Given the description of an element on the screen output the (x, y) to click on. 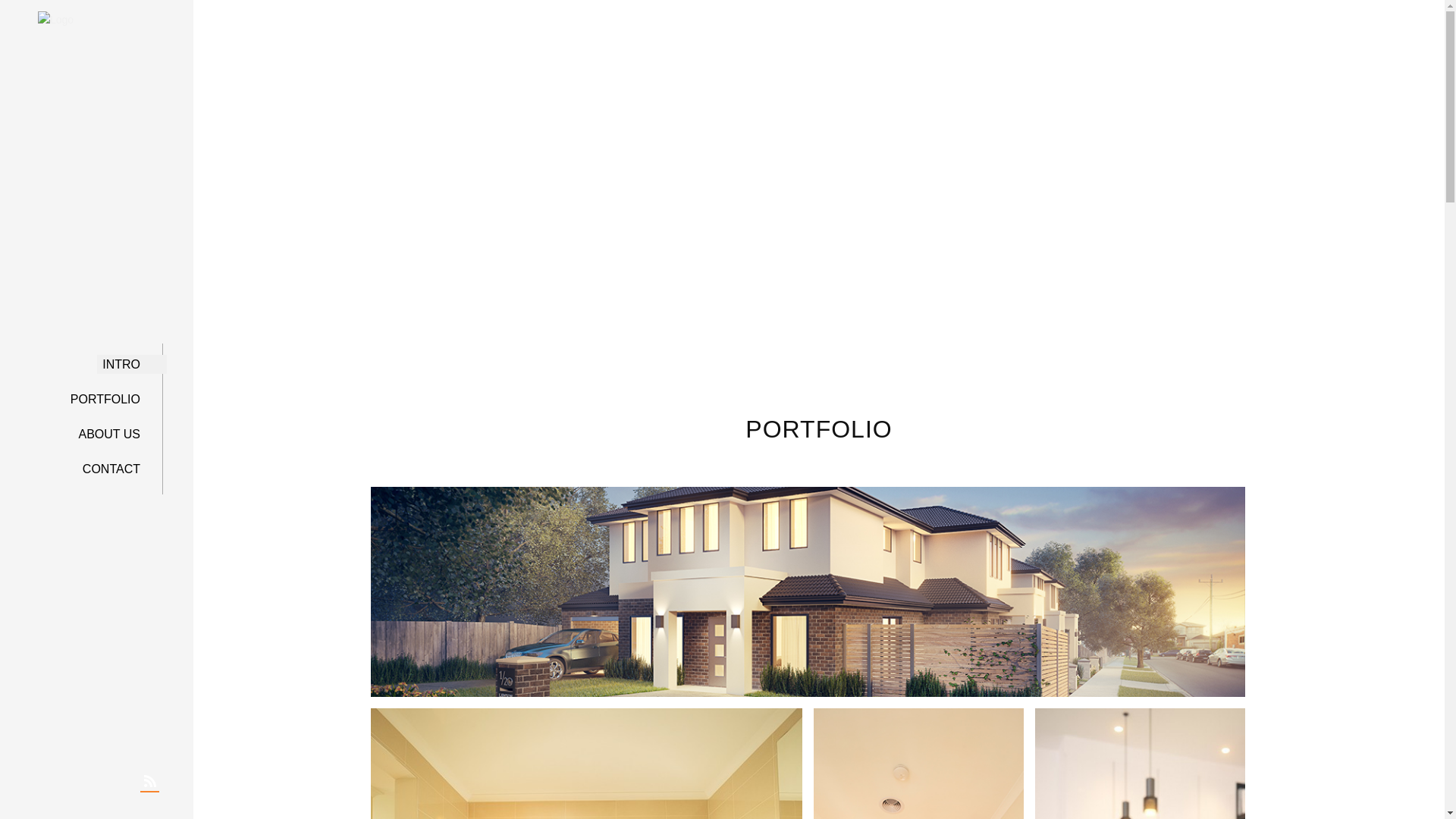
CONTACT Element type: text (118, 468)
PORTFOLIO Element type: text (112, 399)
INTRO Element type: text (128, 364)
ABOUT US Element type: text (116, 434)
